Given the description of an element on the screen output the (x, y) to click on. 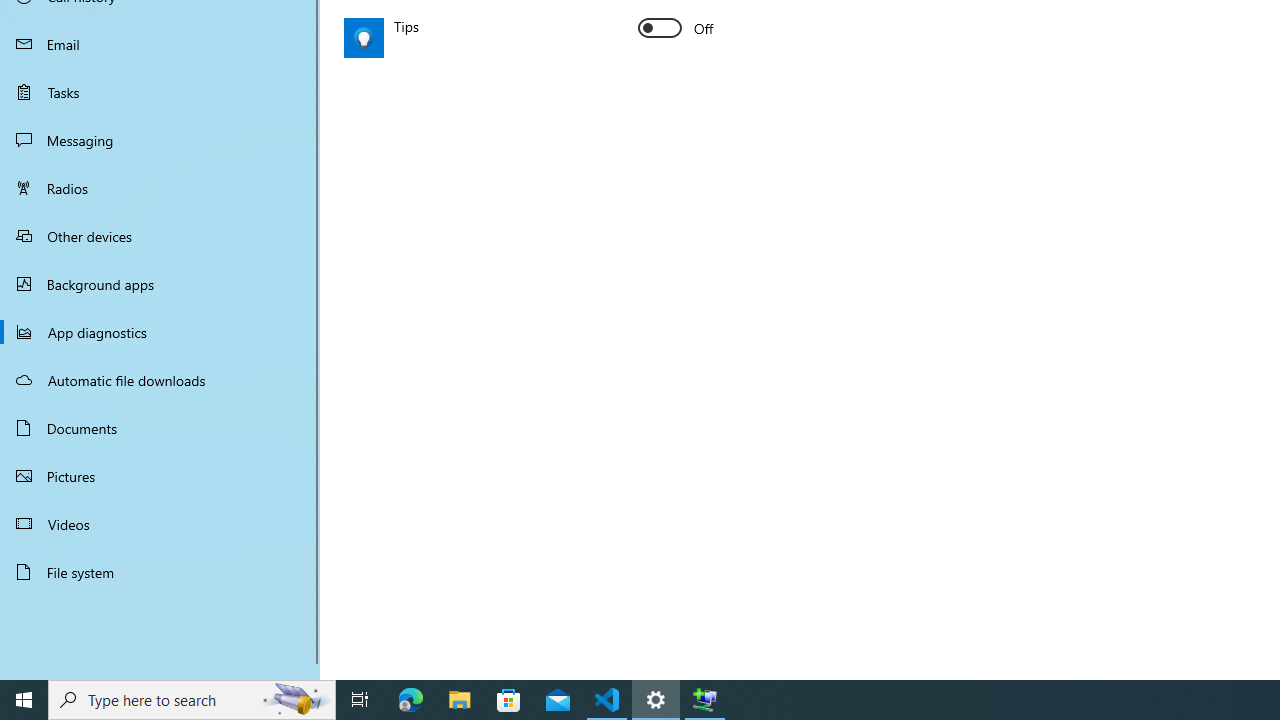
Search highlights icon opens search home window (295, 699)
Radios (160, 187)
Tips (675, 27)
Settings - 1 running window (656, 699)
Pictures (160, 475)
Other devices (160, 235)
Microsoft Edge (411, 699)
Microsoft Store (509, 699)
Documents (160, 427)
